Given the description of an element on the screen output the (x, y) to click on. 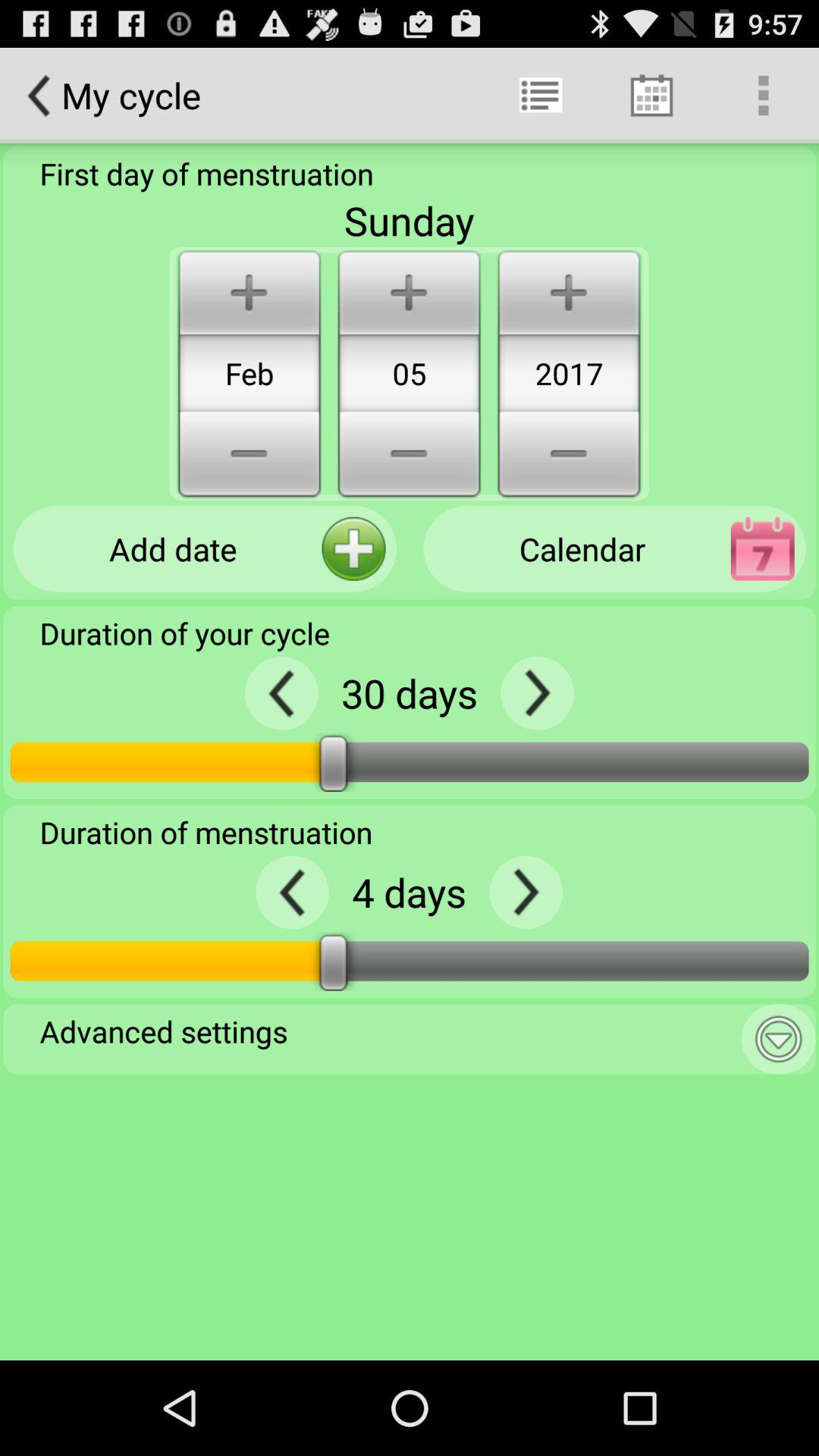
next (525, 892)
